Given the description of an element on the screen output the (x, y) to click on. 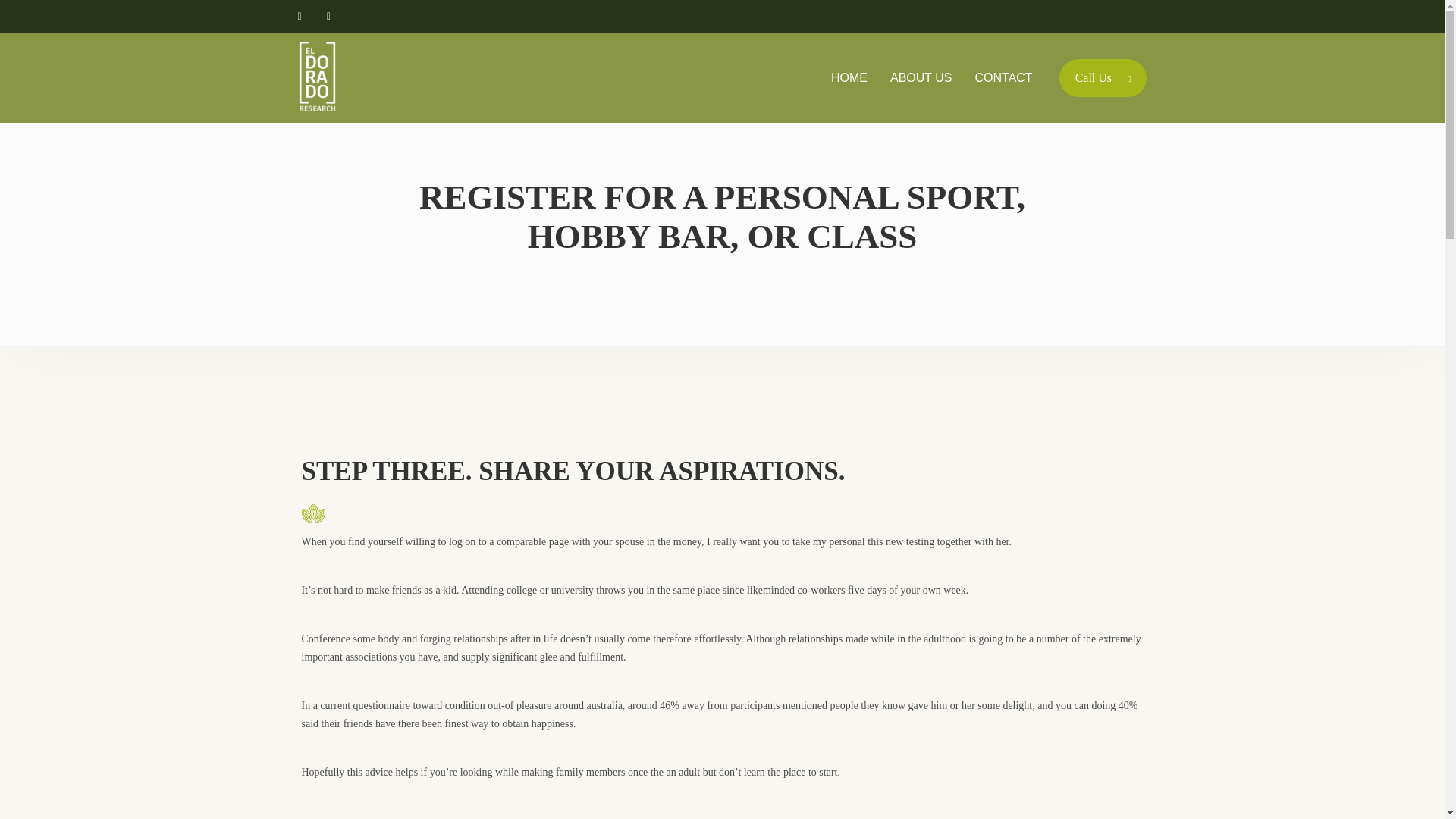
ABOUT US (920, 77)
CONTACT (1003, 77)
Call Us (1103, 77)
HOME (849, 77)
